Given the description of an element on the screen output the (x, y) to click on. 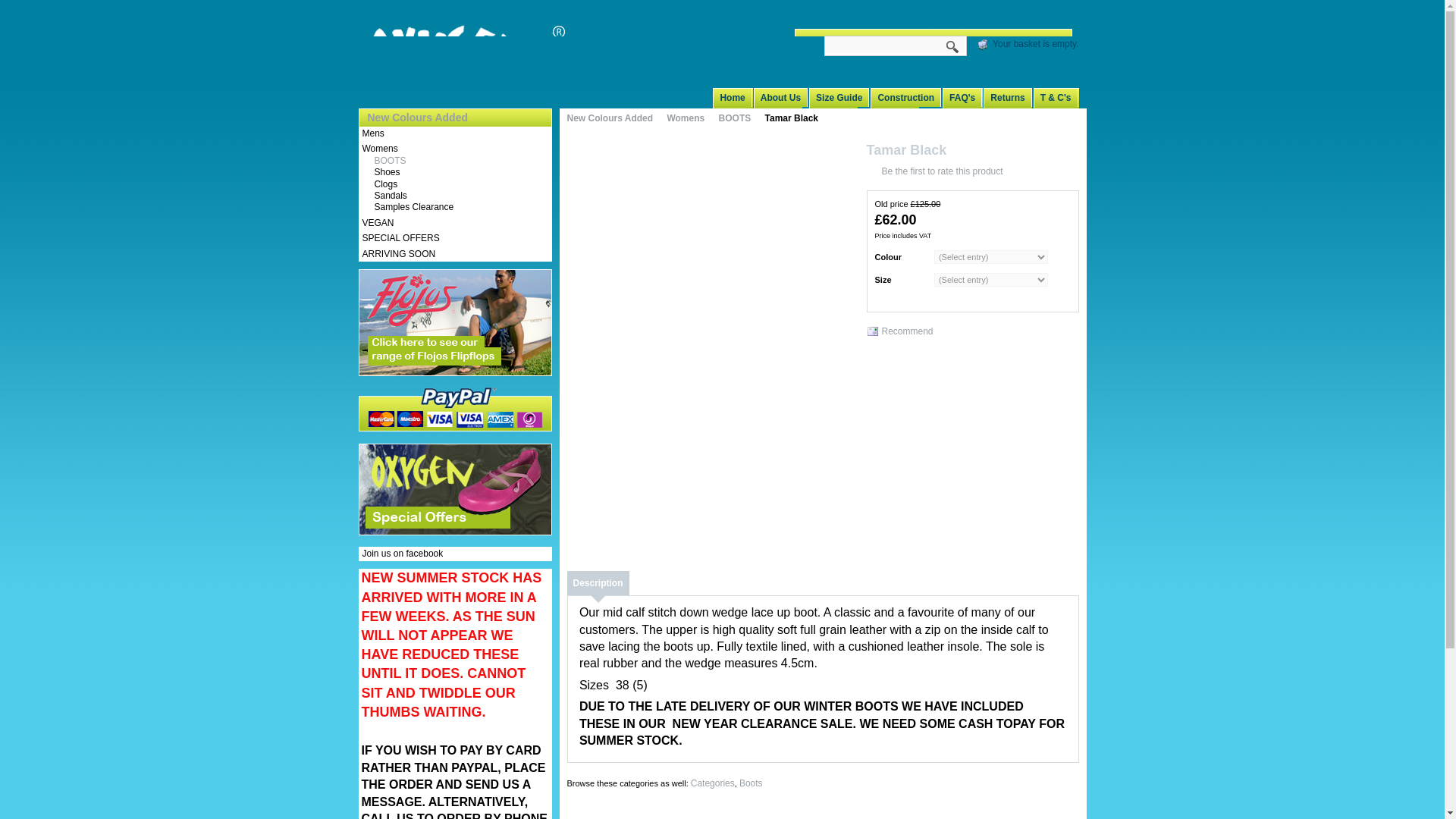
Home (735, 97)
Description (597, 582)
Categories (712, 783)
Mens (373, 132)
Womens (691, 118)
Womens (379, 148)
Samples Clearance (408, 206)
Be the first to rate this product (934, 172)
FAQ's (965, 97)
SPECIAL OFFERS (400, 237)
